Given the description of an element on the screen output the (x, y) to click on. 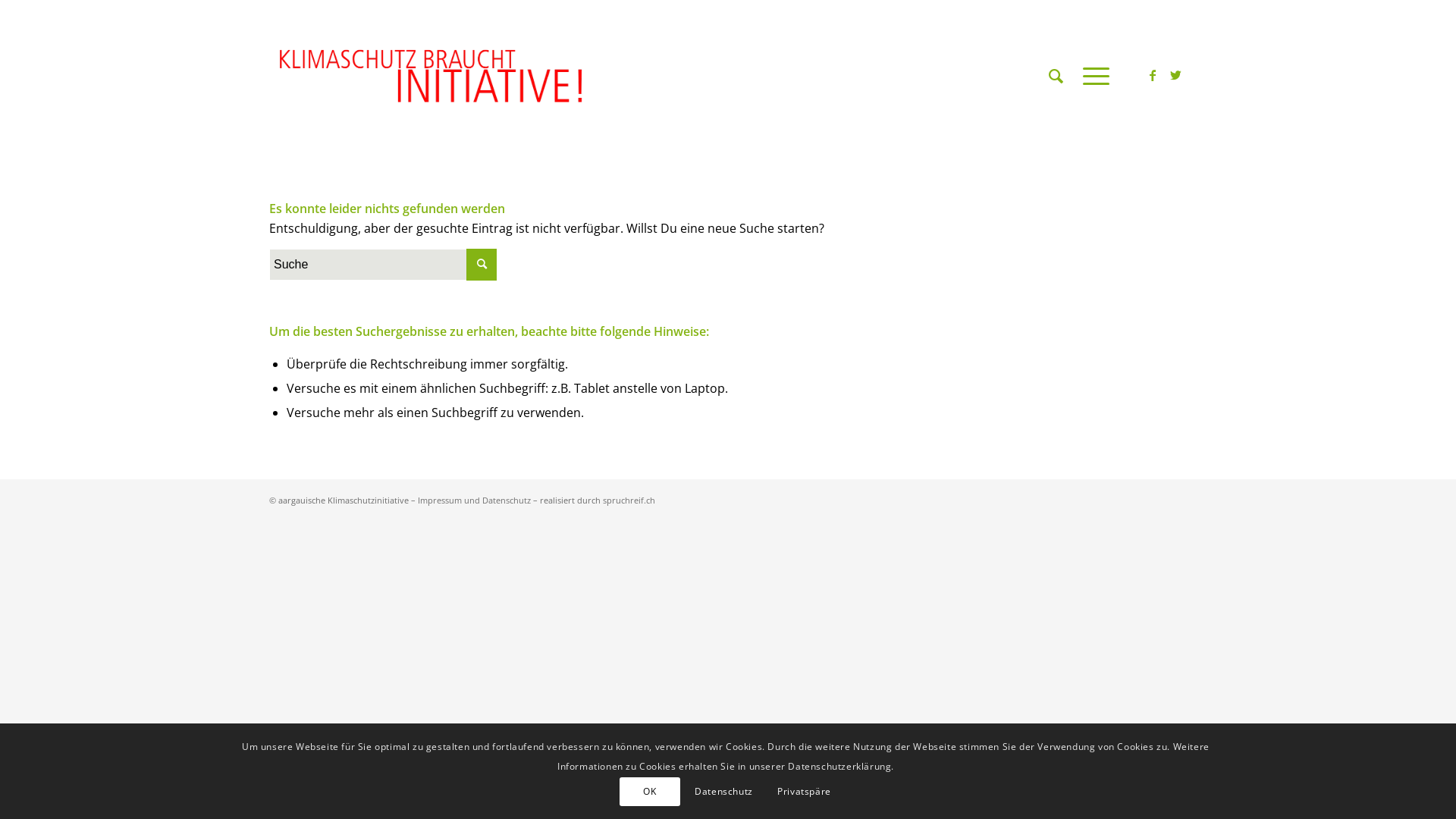
Impressum und Datenschutz Element type: text (473, 499)
Datenschutz Element type: text (723, 790)
klimaschutz-braucht-initiative-logo Element type: hover (434, 75)
OK Element type: text (649, 790)
Twitter Element type: hover (1175, 74)
Facebook Element type: hover (1152, 74)
spruchreif.ch Element type: text (628, 499)
